Given the description of an element on the screen output the (x, y) to click on. 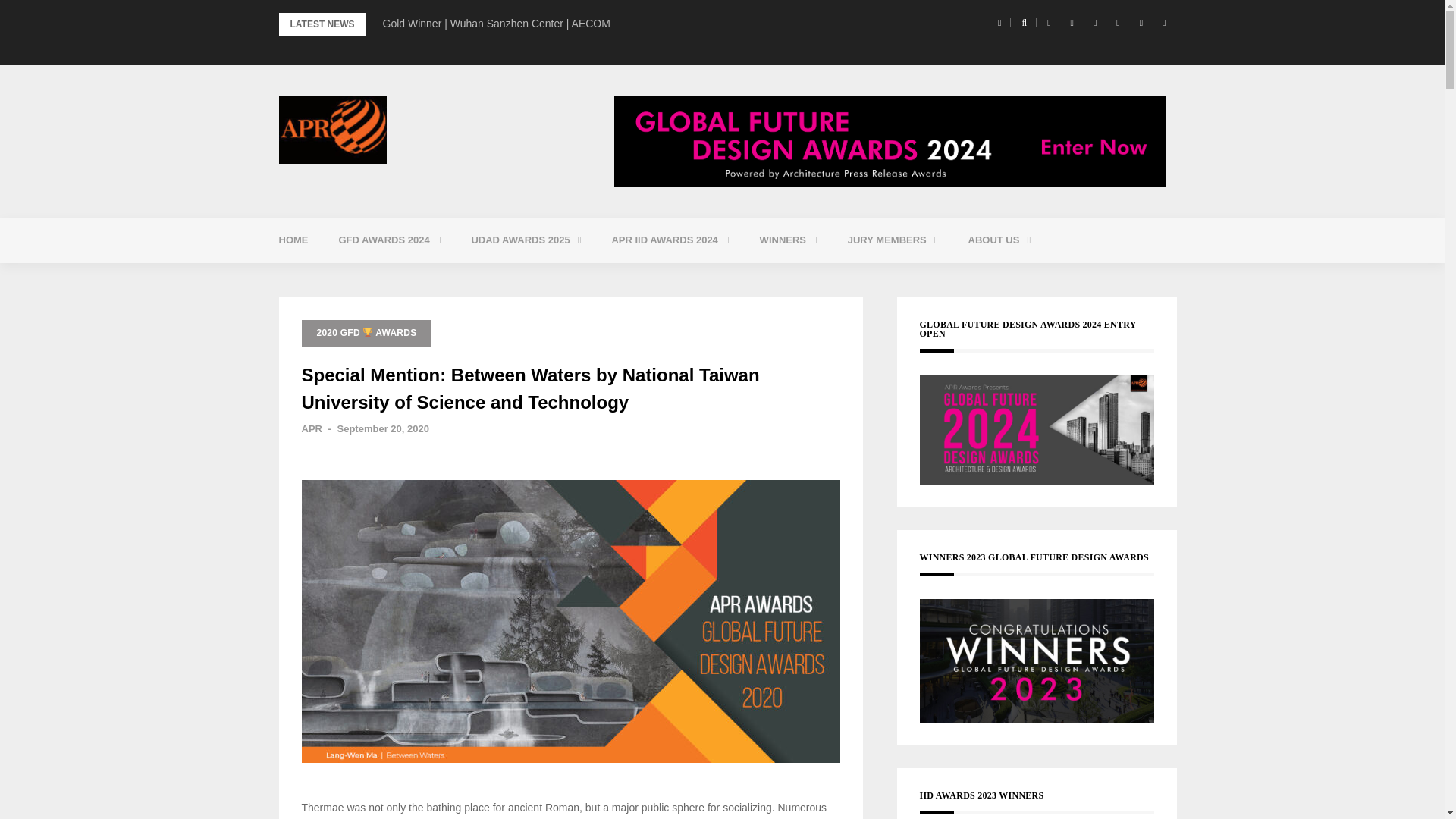
GFD AWARDS 2024 (389, 239)
Home (293, 239)
HOME (293, 239)
GFD Awards Brief (425, 277)
